Given the description of an element on the screen output the (x, y) to click on. 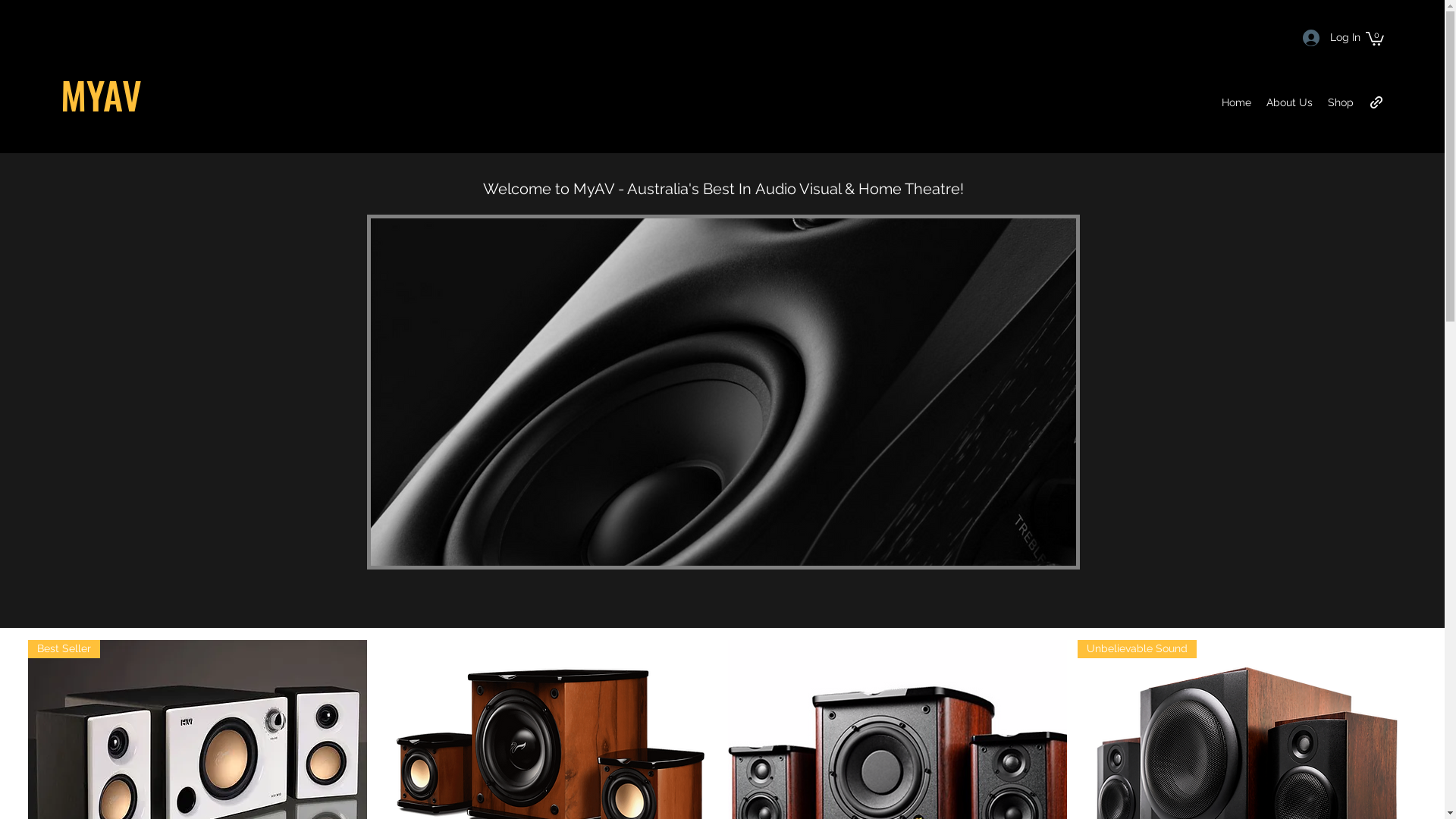
Shop Element type: text (1340, 102)
Log In Element type: text (1326, 37)
MYAV Element type: text (100, 93)
About Us Element type: text (1289, 102)
0 Element type: text (1374, 37)
Home Element type: text (1236, 102)
